Given the description of an element on the screen output the (x, y) to click on. 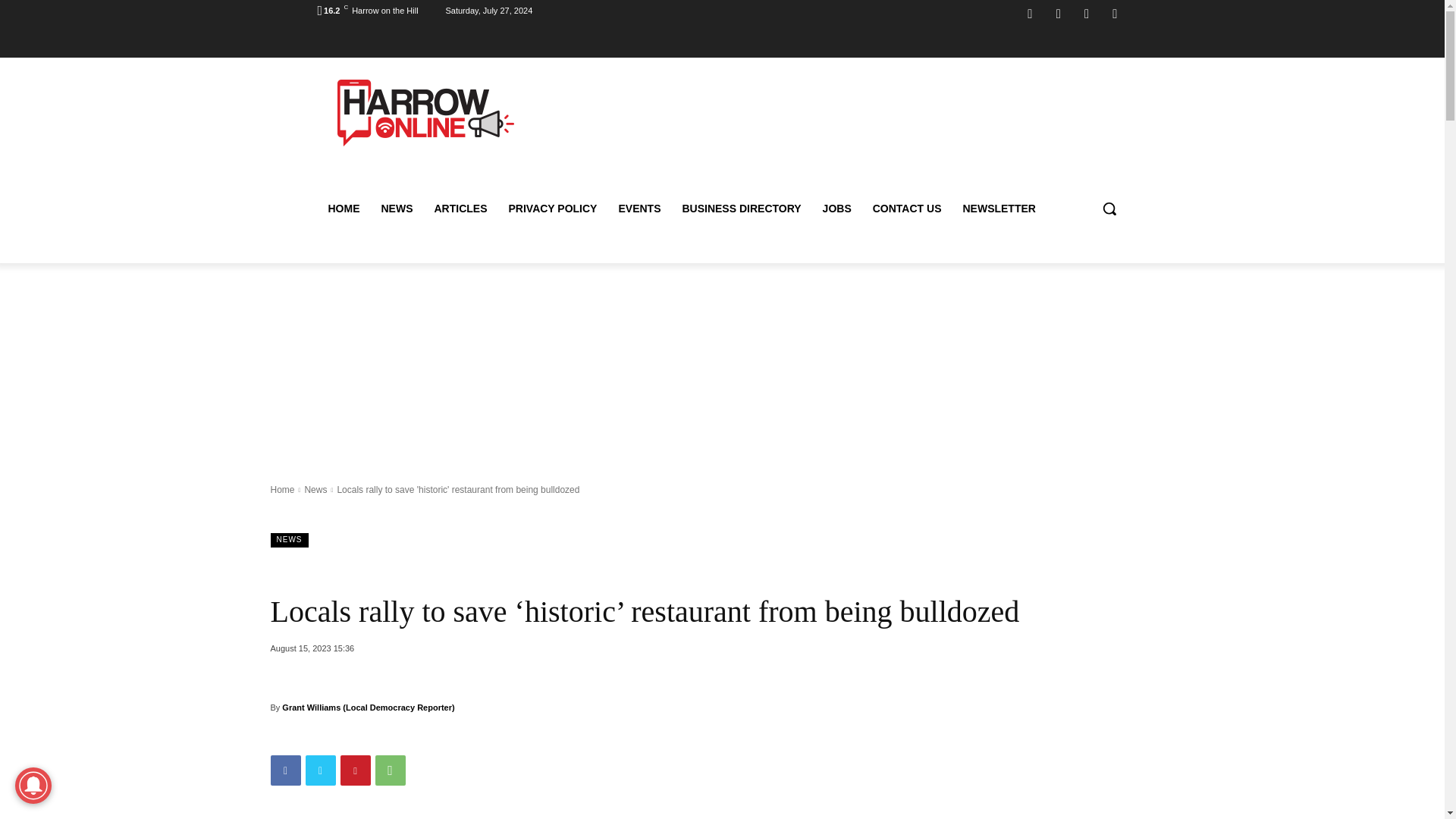
NEWS (396, 208)
CONTACT US (906, 208)
Instagram (1058, 13)
EVENTS (639, 208)
TikTok (1086, 13)
ARTICLES (460, 208)
PRIVACY POLICY (552, 208)
HOME (343, 208)
Facebook (1029, 13)
JOBS (836, 208)
BUSINESS DIRECTORY (740, 208)
NEWSLETTER (998, 208)
